Given the description of an element on the screen output the (x, y) to click on. 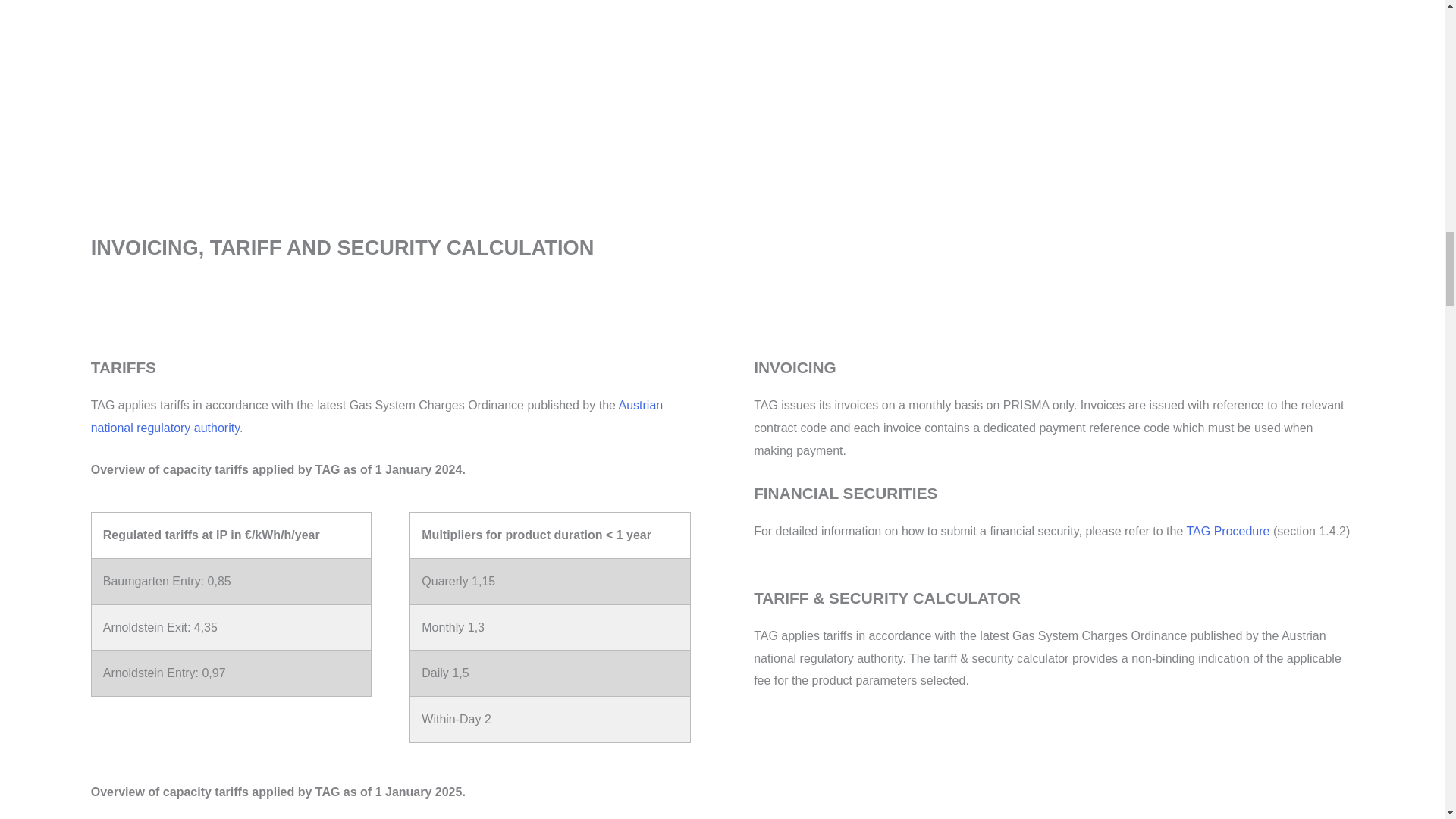
Austrian national regulatory authority (376, 416)
TAG Procedure (1227, 530)
